Given the description of an element on the screen output the (x, y) to click on. 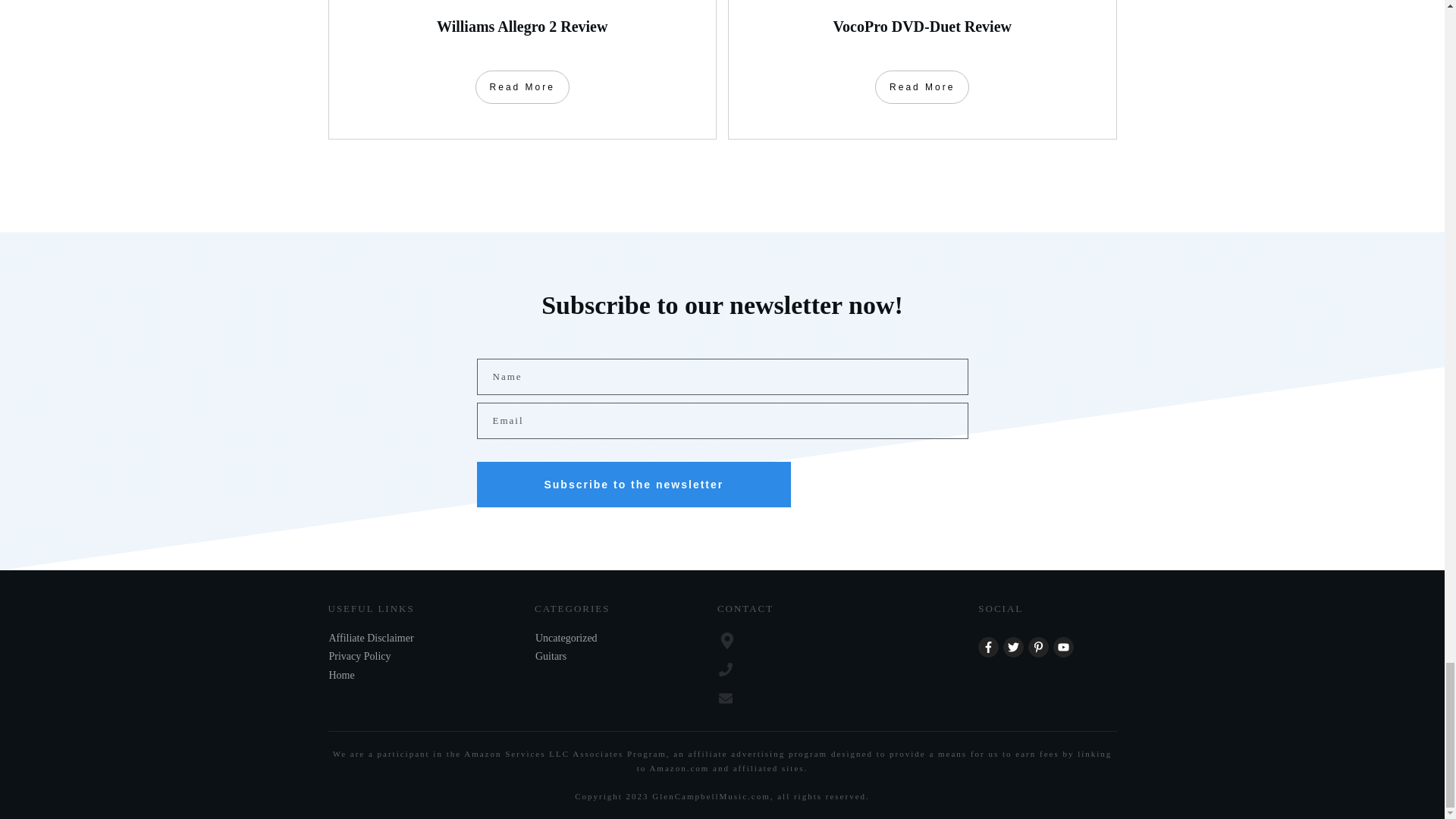
Guitars (550, 656)
Uncategorized (565, 638)
Affiliate Disclaimer (371, 638)
Subscribe to the newsletter (633, 483)
Privacy Policy (360, 656)
Read More (922, 87)
Home (342, 675)
Read More (522, 87)
